Given the description of an element on the screen output the (x, y) to click on. 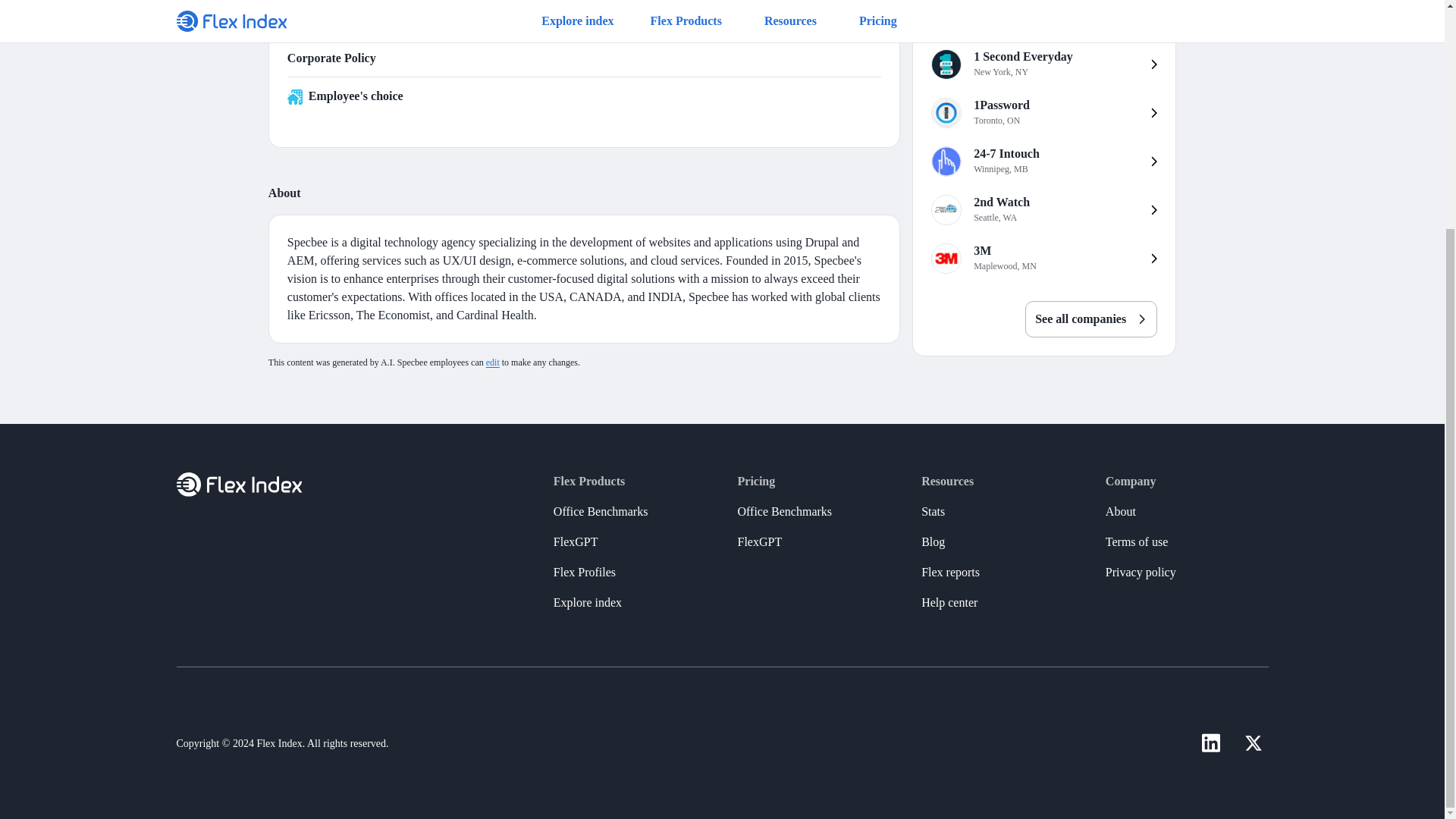
Explore index (1043, 161)
Flex Profiles (1043, 112)
FlexGPT (587, 603)
See all companies (584, 572)
edit (1043, 64)
Office Benchmarks (1043, 209)
See all companies (575, 542)
Office Benchmarks (1043, 258)
